Given the description of an element on the screen output the (x, y) to click on. 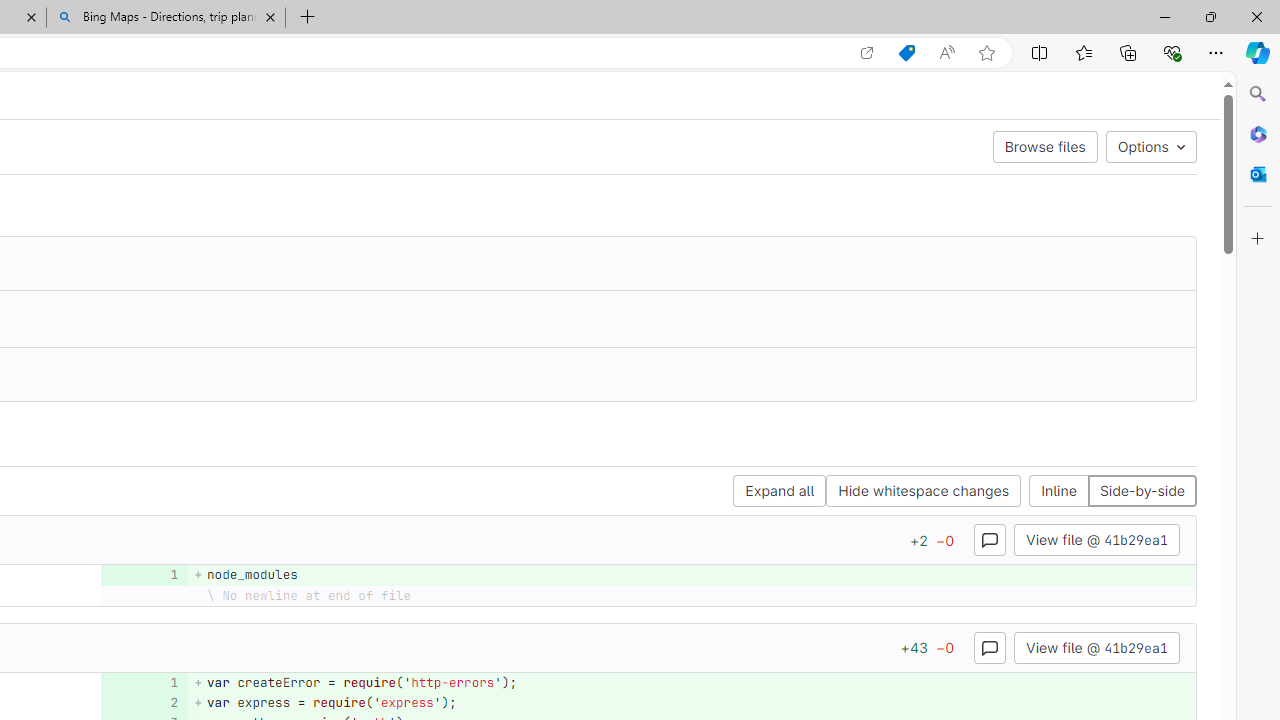
Expand all (779, 491)
+ var express = require('express');  (691, 701)
+ var createError = require('http-errors');  (691, 681)
Side-by-side (1141, 491)
Toggle comments for this file (990, 646)
